Given the description of an element on the screen output the (x, y) to click on. 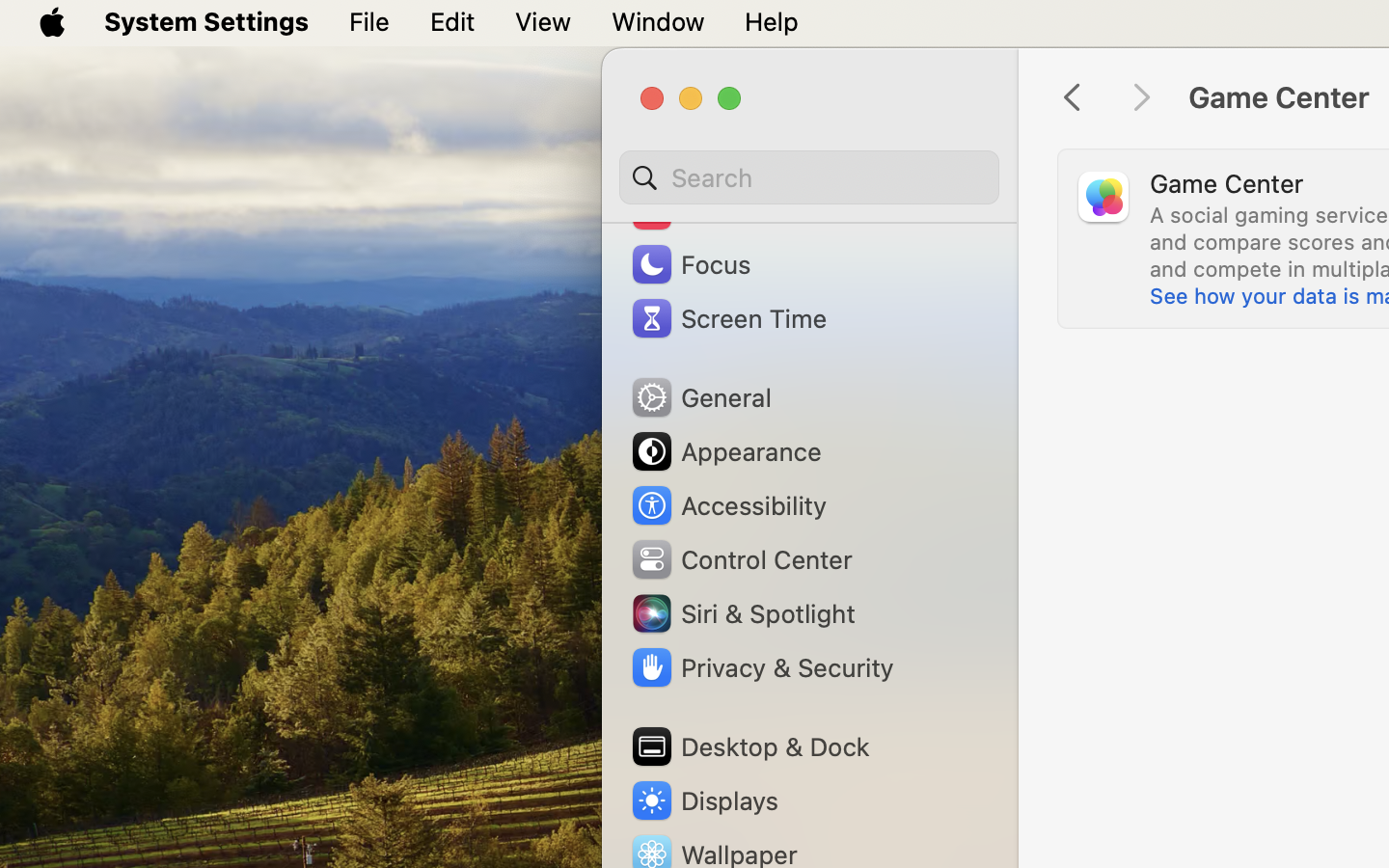
Appearance Element type: AXStaticText (724, 451)
Screen Time Element type: AXStaticText (727, 318)
Control Center Element type: AXStaticText (740, 559)
General Element type: AXStaticText (699, 397)
Desktop & Dock Element type: AXStaticText (749, 746)
